Given the description of an element on the screen output the (x, y) to click on. 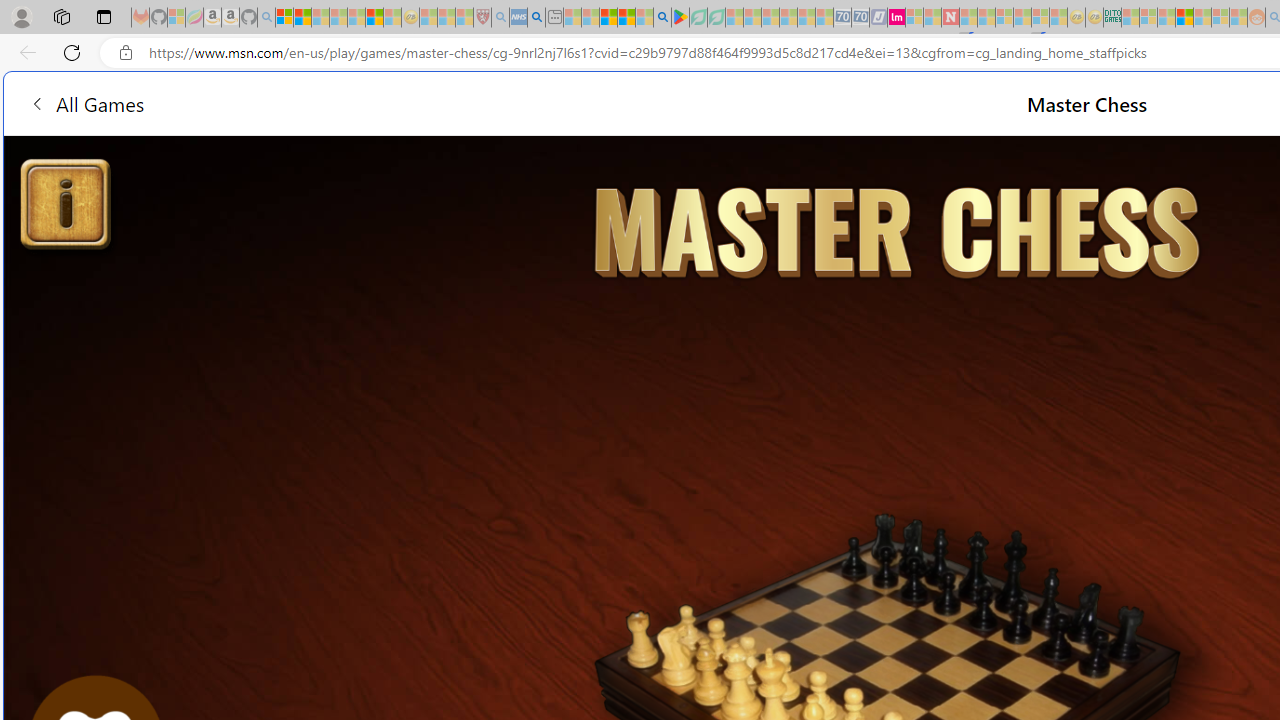
Latest Politics News & Archive | Newsweek.com - Sleeping (950, 17)
